Given the description of an element on the screen output the (x, y) to click on. 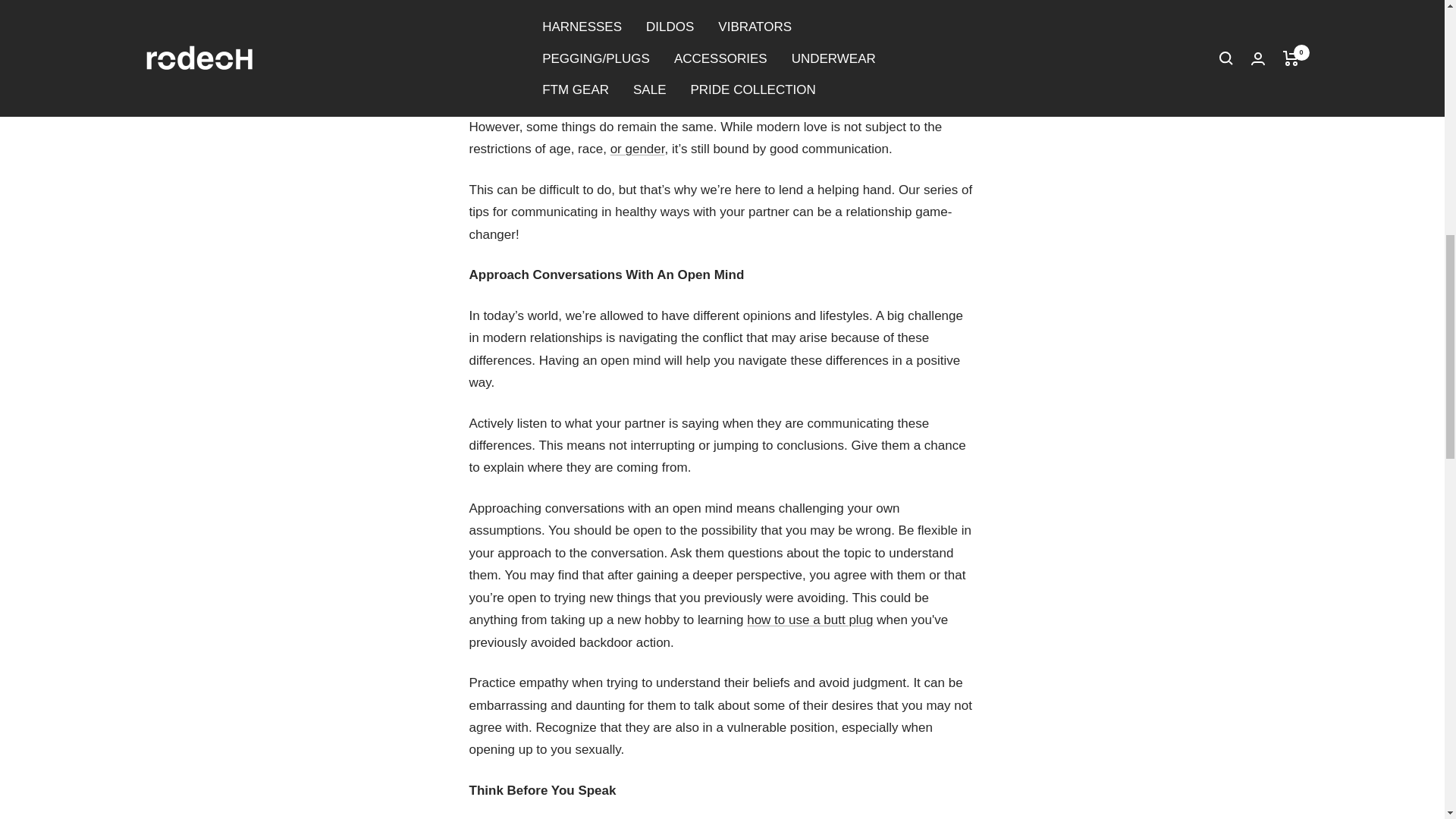
or gender (637, 148)
how to use a butt plug (809, 619)
